Given the description of an element on the screen output the (x, y) to click on. 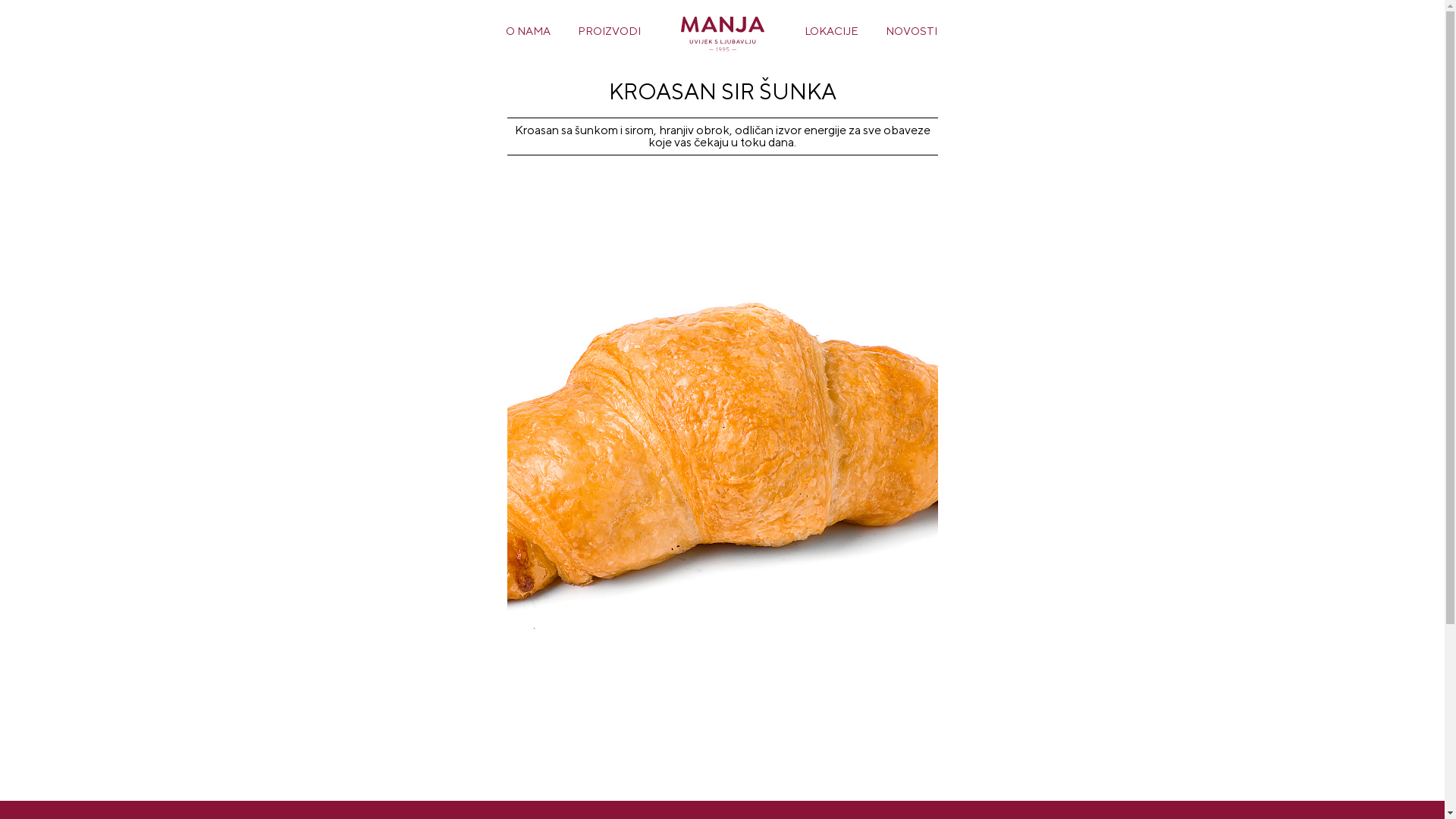
LOKACIJE Element type: text (830, 30)
O NAMA Element type: text (527, 30)
PROIZVODI Element type: text (608, 30)
NOVOSTI Element type: text (911, 30)
